Given the description of an element on the screen output the (x, y) to click on. 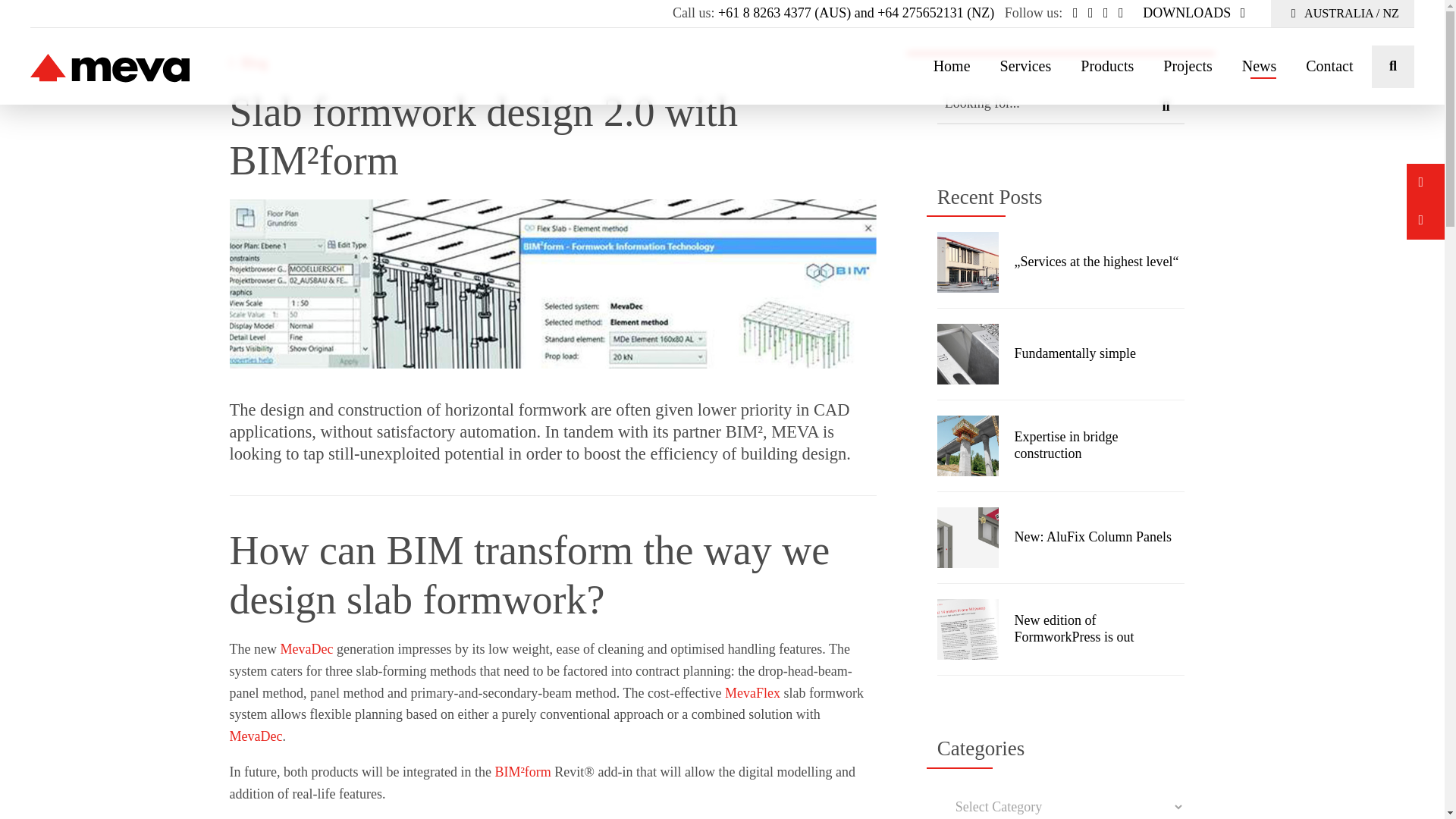
Projects (1187, 64)
Click to open site search (1392, 66)
Home (951, 64)
Services (1026, 64)
Products (1106, 64)
News (1259, 64)
Contact (1329, 64)
DOWNLOADS  (1197, 12)
